Given the description of an element on the screen output the (x, y) to click on. 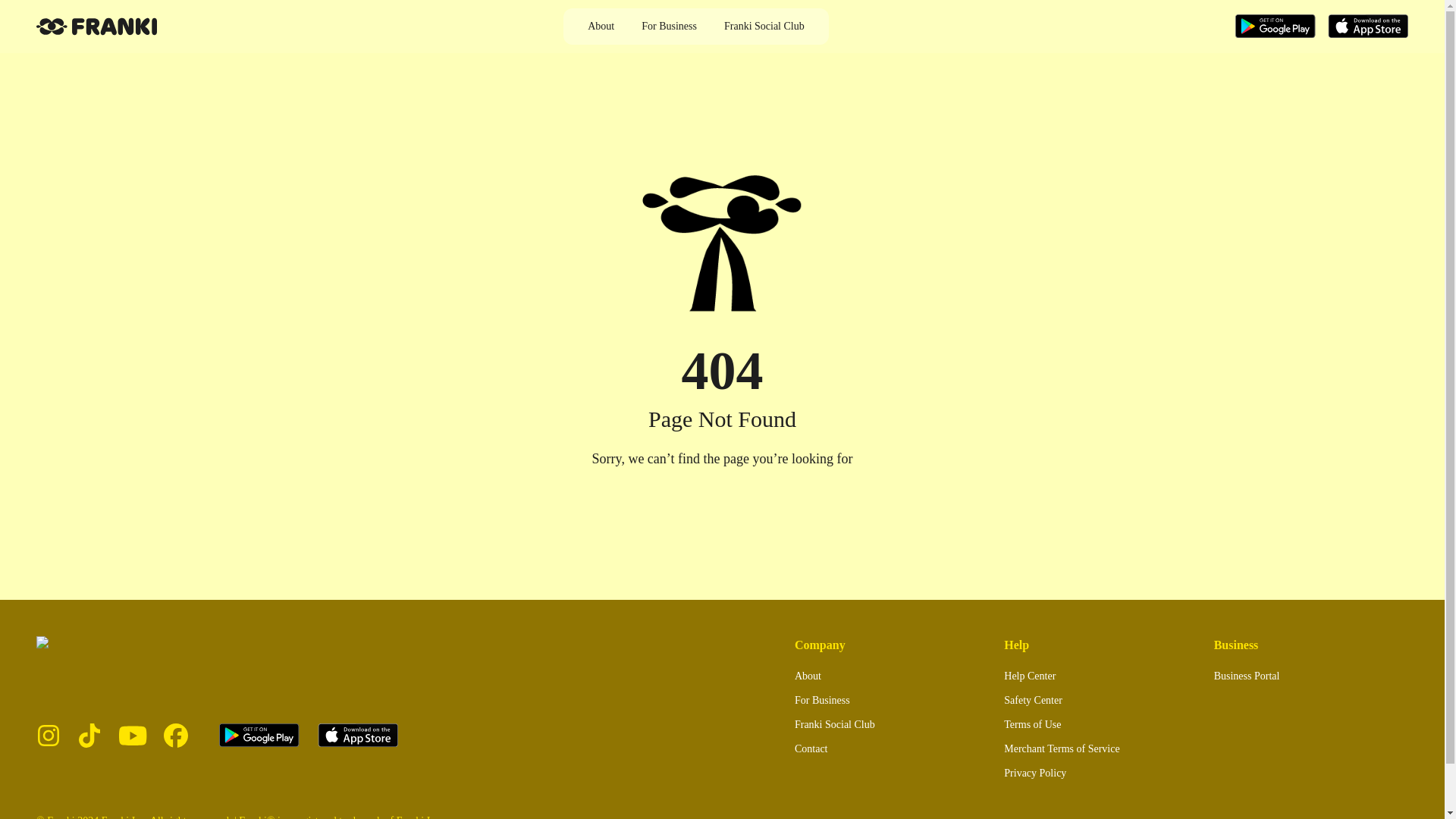
Help Center (1029, 676)
Franki Social Club (763, 26)
404 (721, 370)
Franki Social Club (834, 724)
About (807, 676)
Merchant Terms of Service (1061, 749)
Business Portal (1246, 676)
For Business (668, 26)
Contact (811, 749)
For Business (822, 700)
Privacy Policy (1034, 773)
Safety Center (1033, 700)
About (600, 26)
Terms of Use (1032, 724)
